Given the description of an element on the screen output the (x, y) to click on. 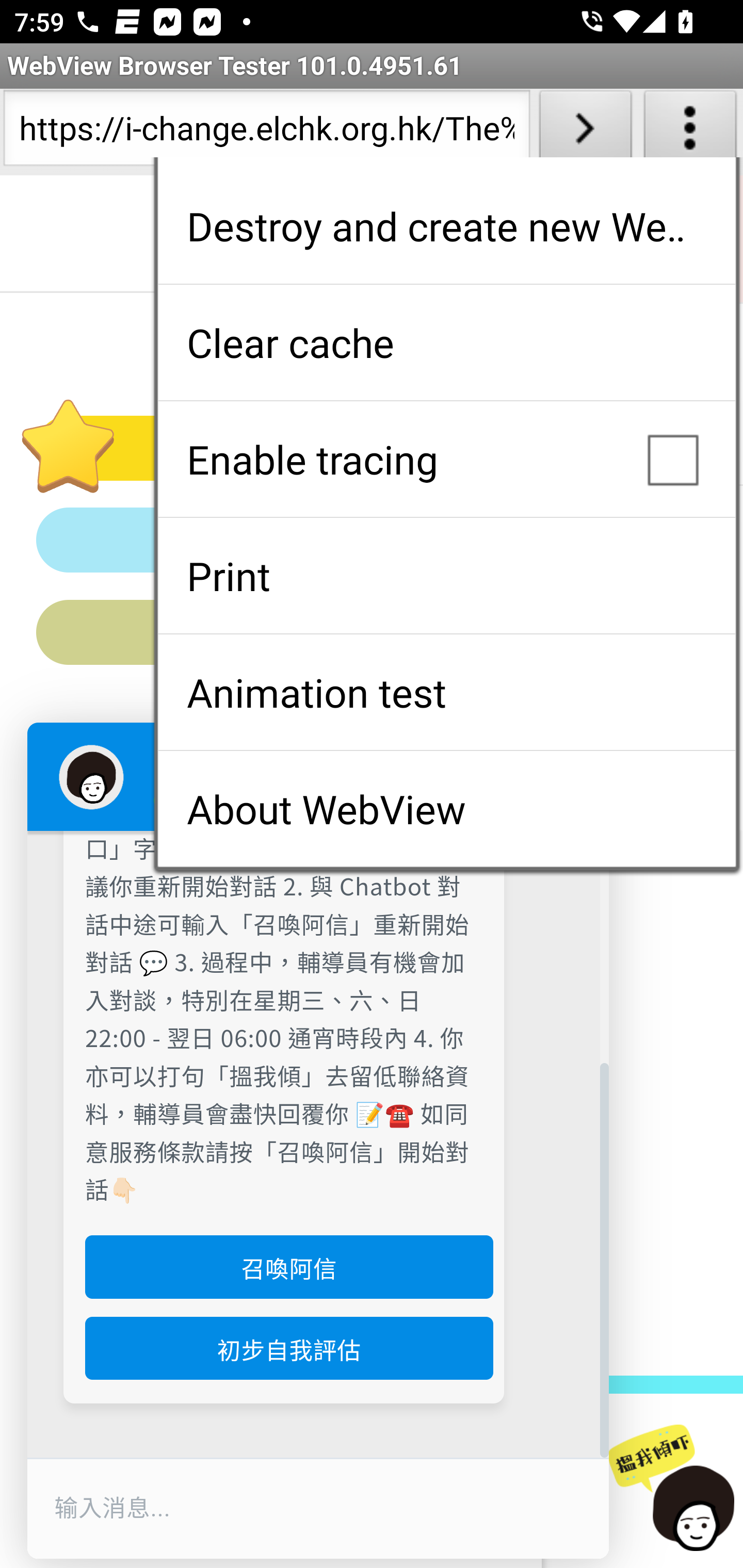
Destroy and create new WebView (446, 225)
Clear cache (446, 342)
Enable tracing (446, 459)
Print (446, 575)
Animation test (446, 692)
About WebView (446, 809)
